Given the description of an element on the screen output the (x, y) to click on. 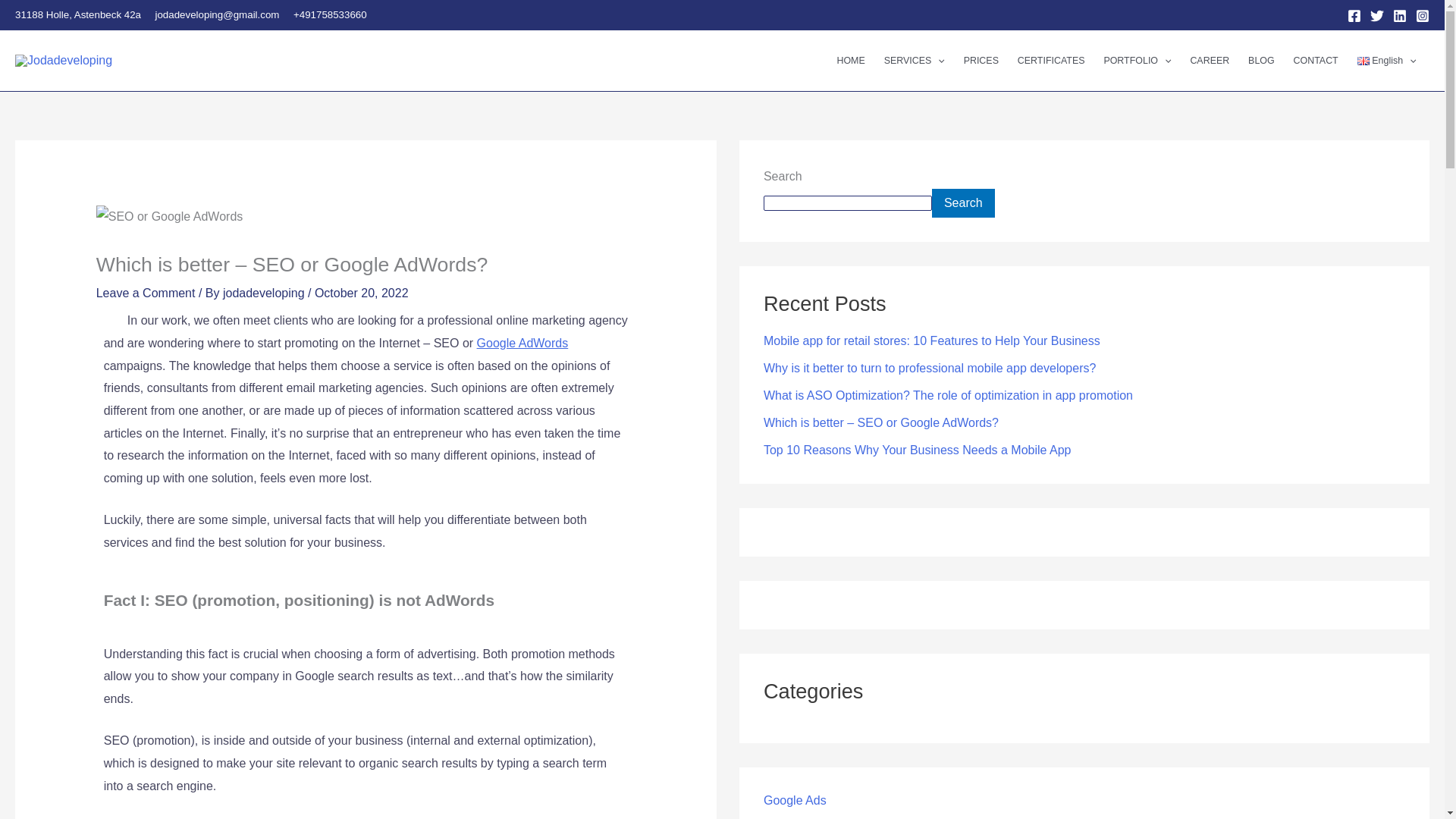
PRICES (980, 60)
View all posts by jodadeveloping (264, 292)
CERTIFICATES (1050, 60)
CAREER (1209, 60)
PORTFOLIO (1137, 60)
SERVICES (914, 60)
English (1386, 60)
CONTACT (1316, 60)
